Given the description of an element on the screen output the (x, y) to click on. 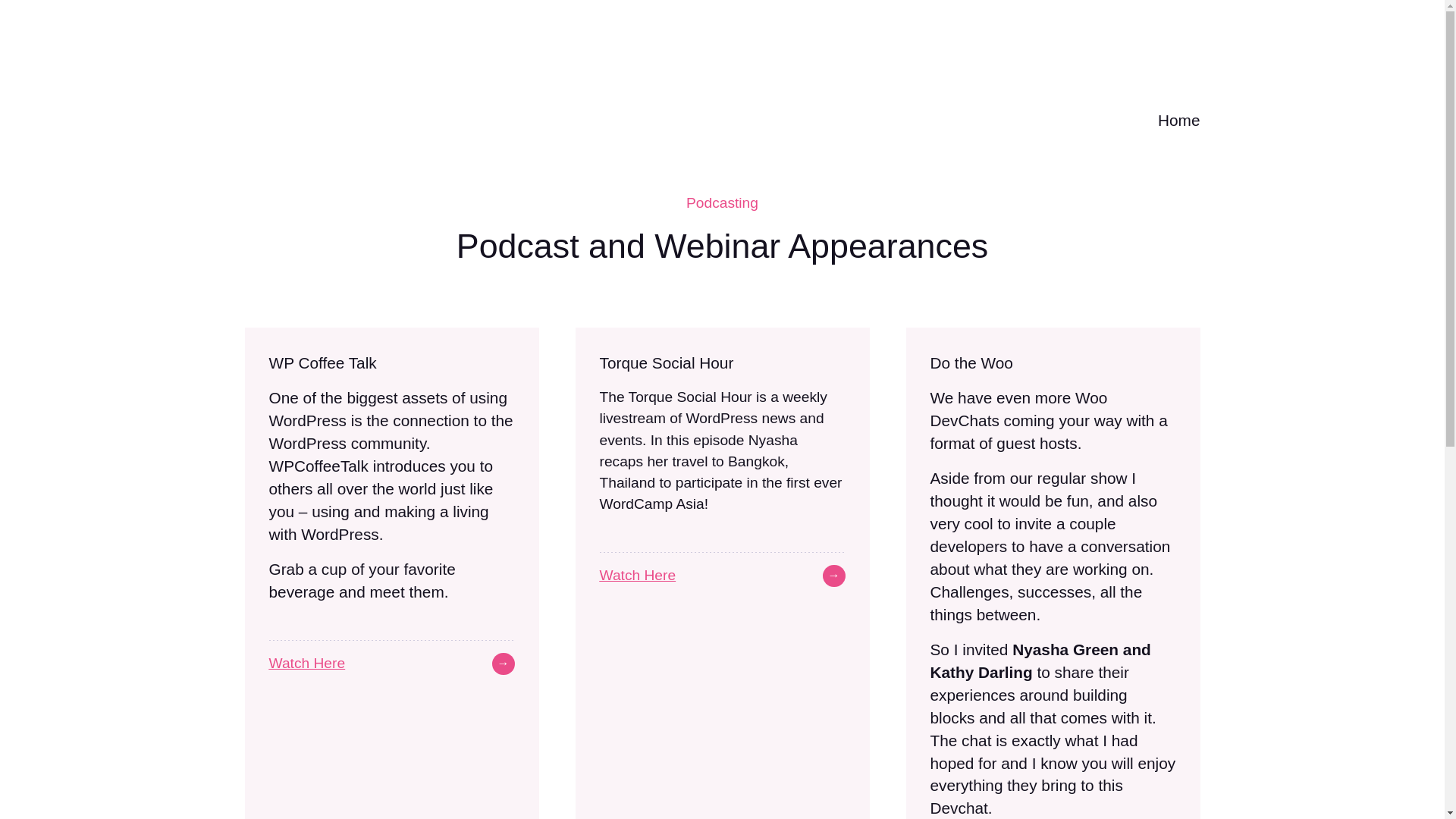
Watch Here (306, 662)
Home (1178, 119)
Watch Here (636, 575)
